Given the description of an element on the screen output the (x, y) to click on. 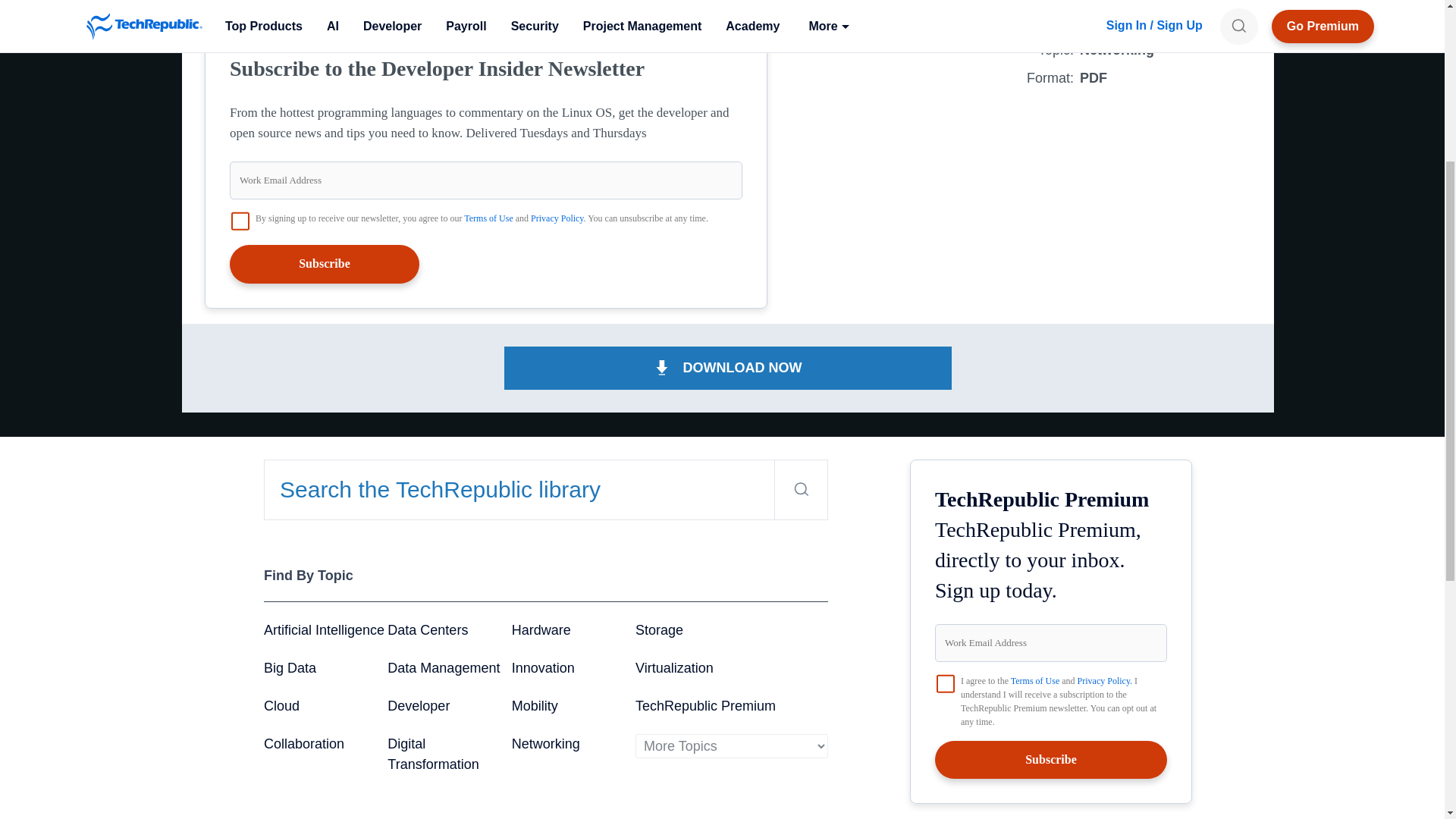
on (239, 221)
Terms of Use (488, 217)
Artificial Intelligence (323, 630)
Subscribe (324, 263)
on (945, 683)
Privacy Policy (557, 217)
DOWNLOAD NOW (727, 367)
